Given the description of an element on the screen output the (x, y) to click on. 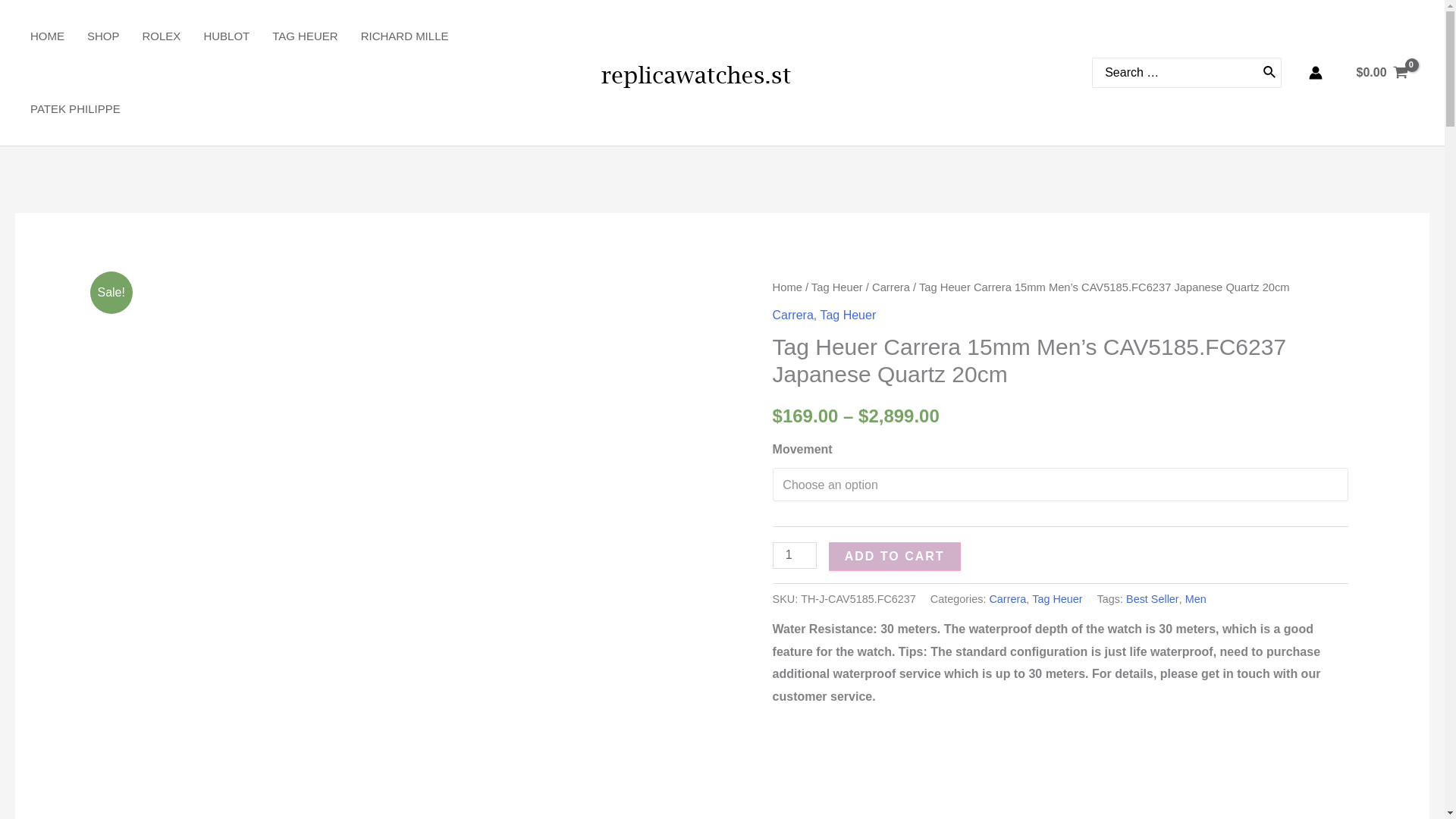
Men (1196, 598)
HUBLOT (237, 36)
PATEK PHILIPPE (86, 108)
Tag Heuer (1056, 598)
Qty (794, 555)
Carrera (1007, 598)
Tag Heuer (847, 314)
Tag Heuer (836, 287)
Home (787, 287)
TAG HEUER (315, 36)
1 (794, 555)
RICHARD MILLE (416, 36)
ADD TO CART (894, 556)
Carrera (891, 287)
Best Seller (1152, 598)
